Given the description of an element on the screen output the (x, y) to click on. 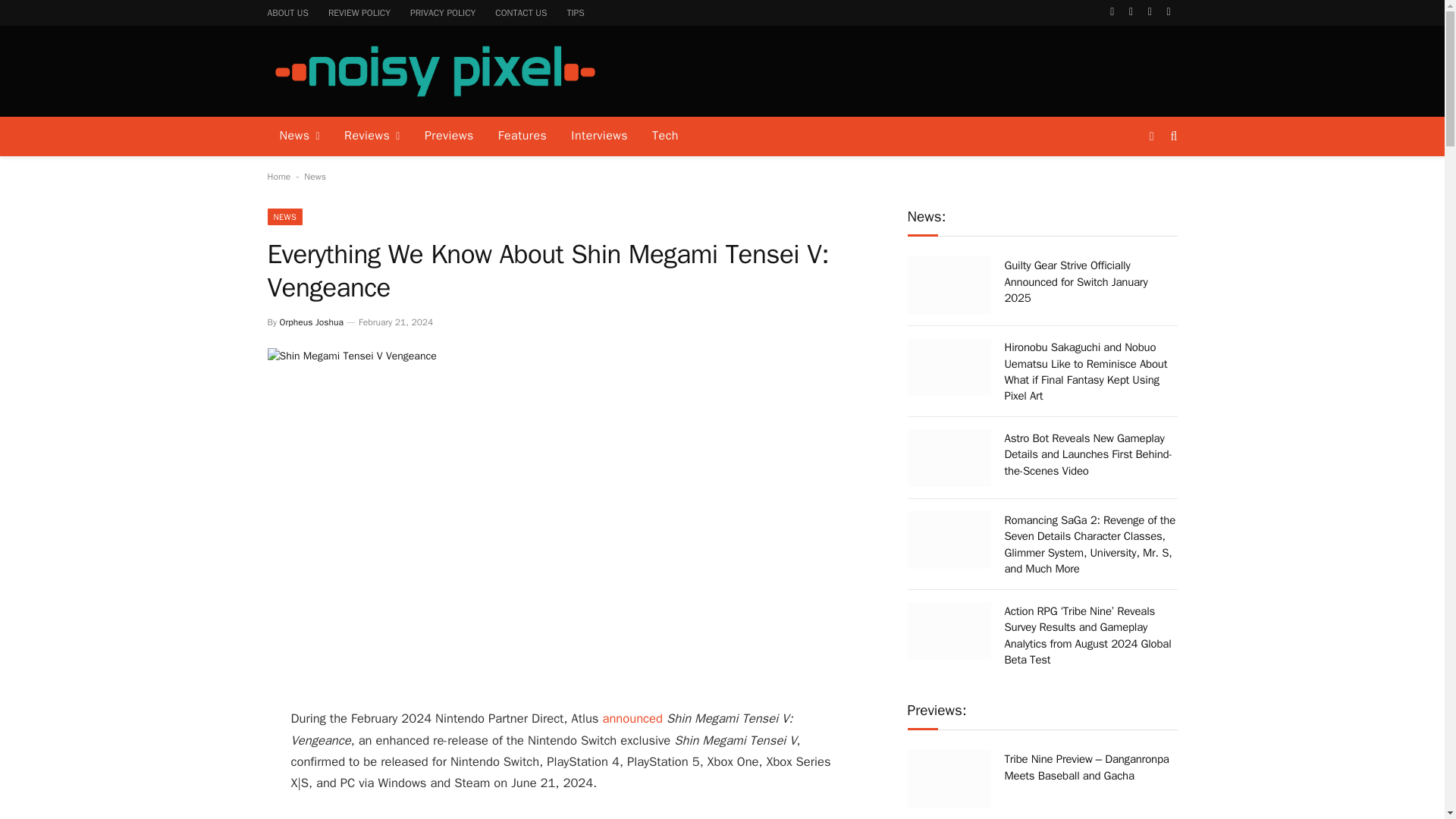
News (315, 176)
NEWS (284, 216)
Features (522, 136)
News (298, 136)
Orpheus Joshua (311, 322)
Posts by Orpheus Joshua (311, 322)
Home (277, 176)
REVIEW POLICY (359, 12)
Noisy Pixel (434, 71)
ABOUT US (287, 12)
